Given the description of an element on the screen output the (x, y) to click on. 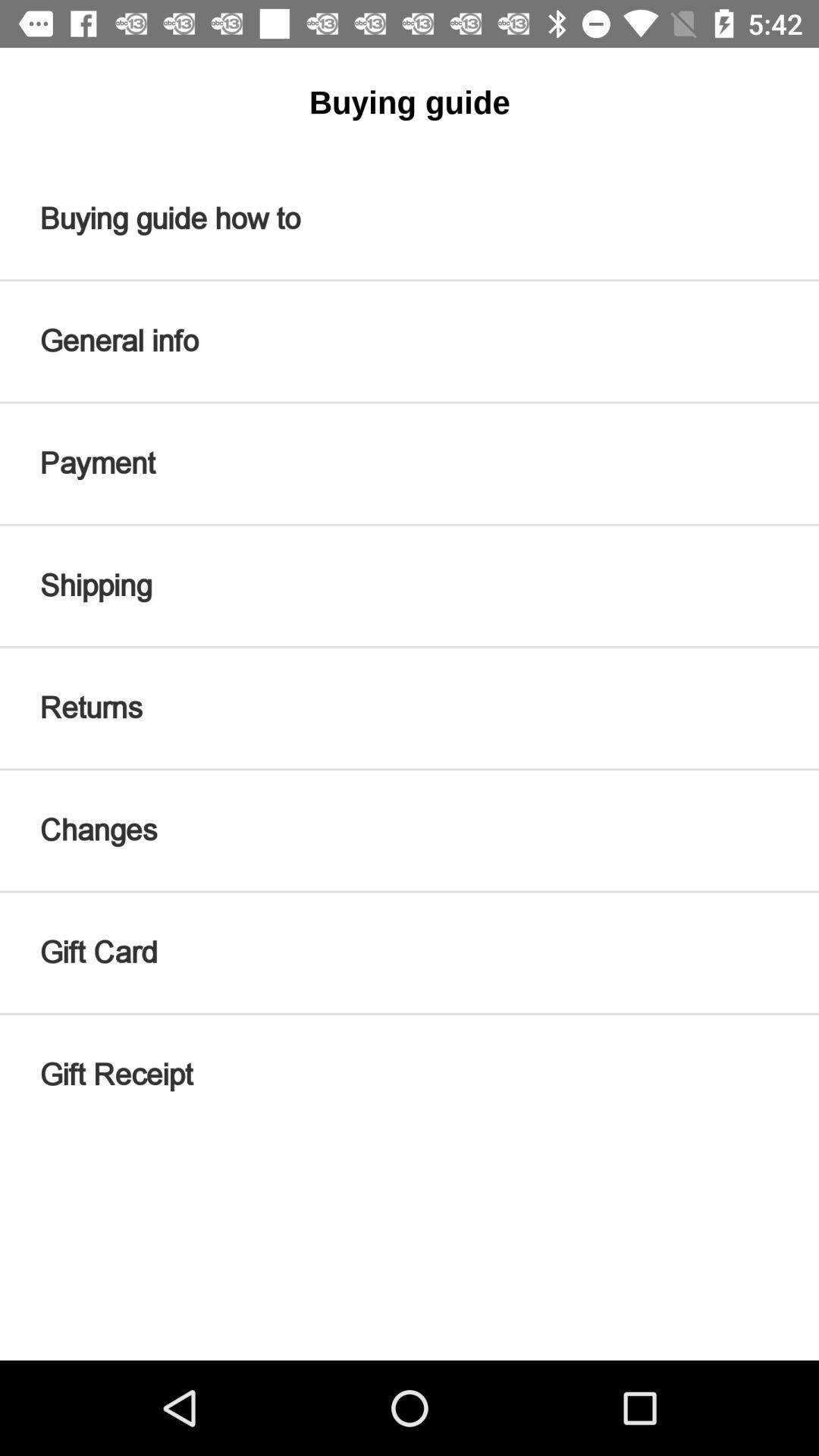
launch the gift card (409, 952)
